Given the description of an element on the screen output the (x, y) to click on. 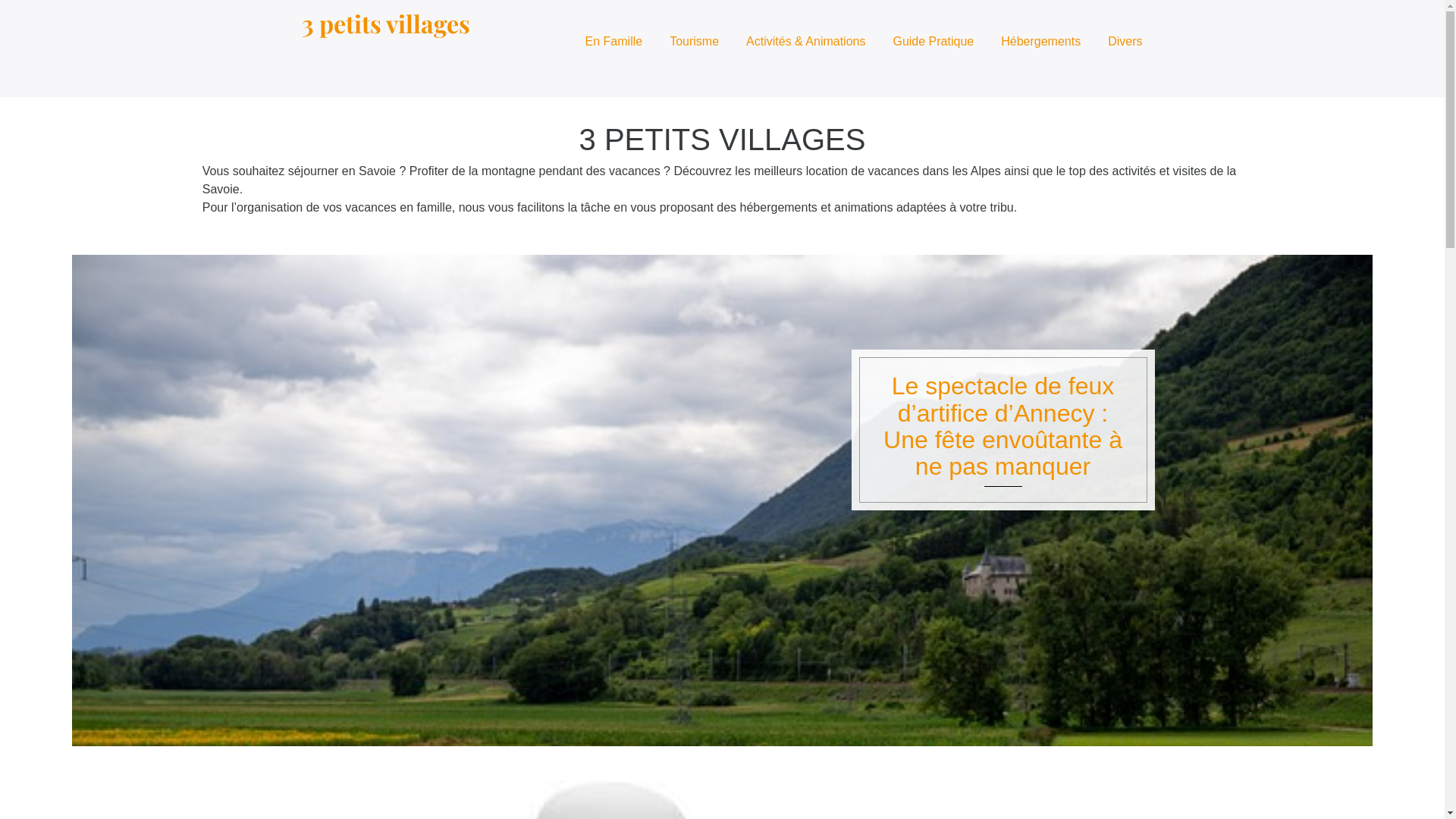
Divers Element type: text (1121, 41)
3 petits villages Element type: text (385, 22)
Guide Pratique Element type: text (932, 41)
Tourisme Element type: text (694, 41)
En Famille Element type: text (613, 41)
